Given the description of an element on the screen output the (x, y) to click on. 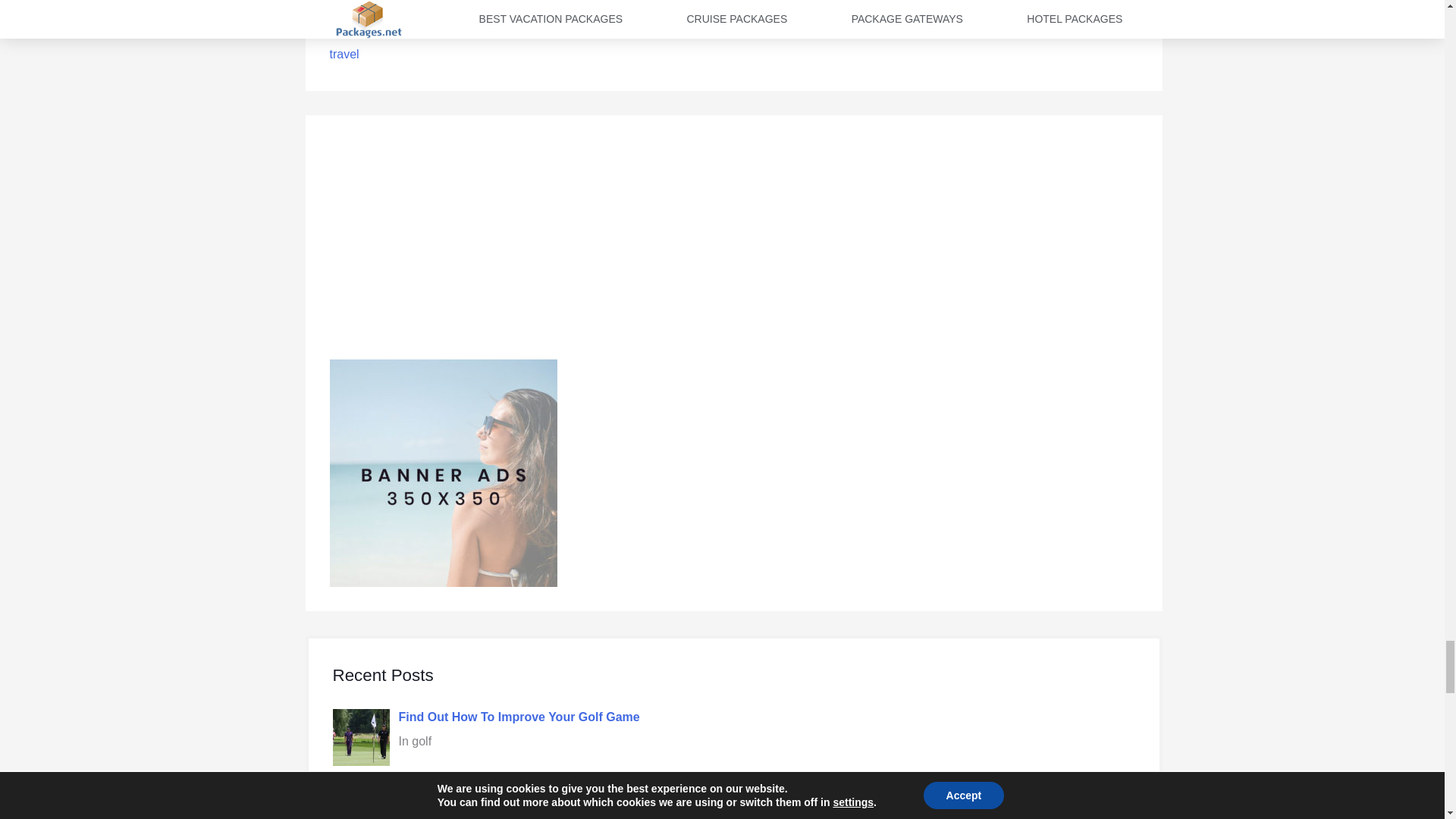
Find Out How To Improve Your Golf Game (519, 716)
travel (343, 53)
Camping Advice You Need To Read Before Getting On The Road (583, 799)
photography (362, 16)
